Given the description of an element on the screen output the (x, y) to click on. 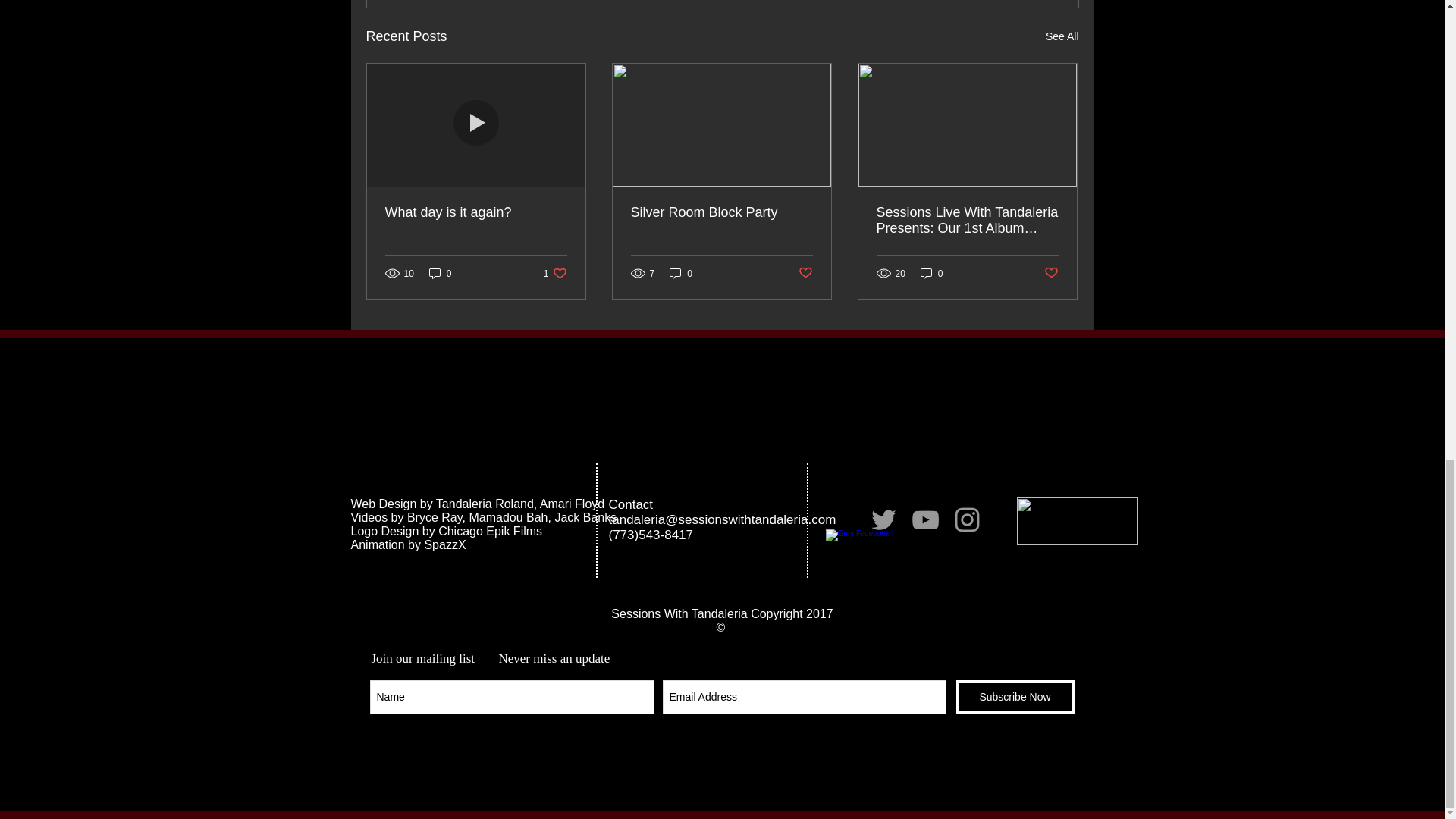
0 (681, 273)
What day is it again? (476, 212)
Post not marked as liked (555, 273)
0 (1050, 273)
Post not marked as liked (440, 273)
See All (804, 273)
0 (1061, 36)
Silver Room Block Party (931, 273)
